Given the description of an element on the screen output the (x, y) to click on. 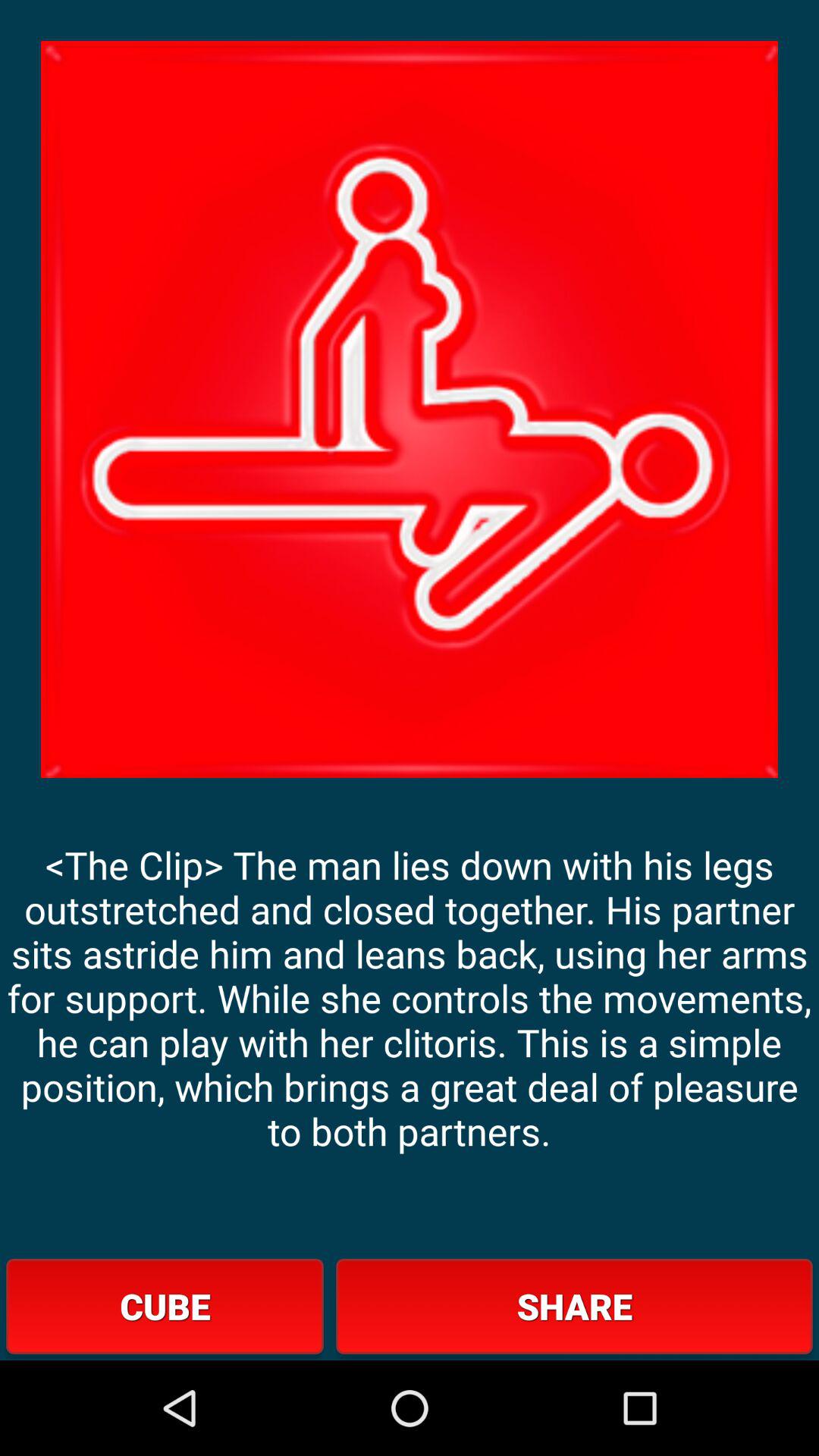
choose the share (574, 1306)
